Given the description of an element on the screen output the (x, y) to click on. 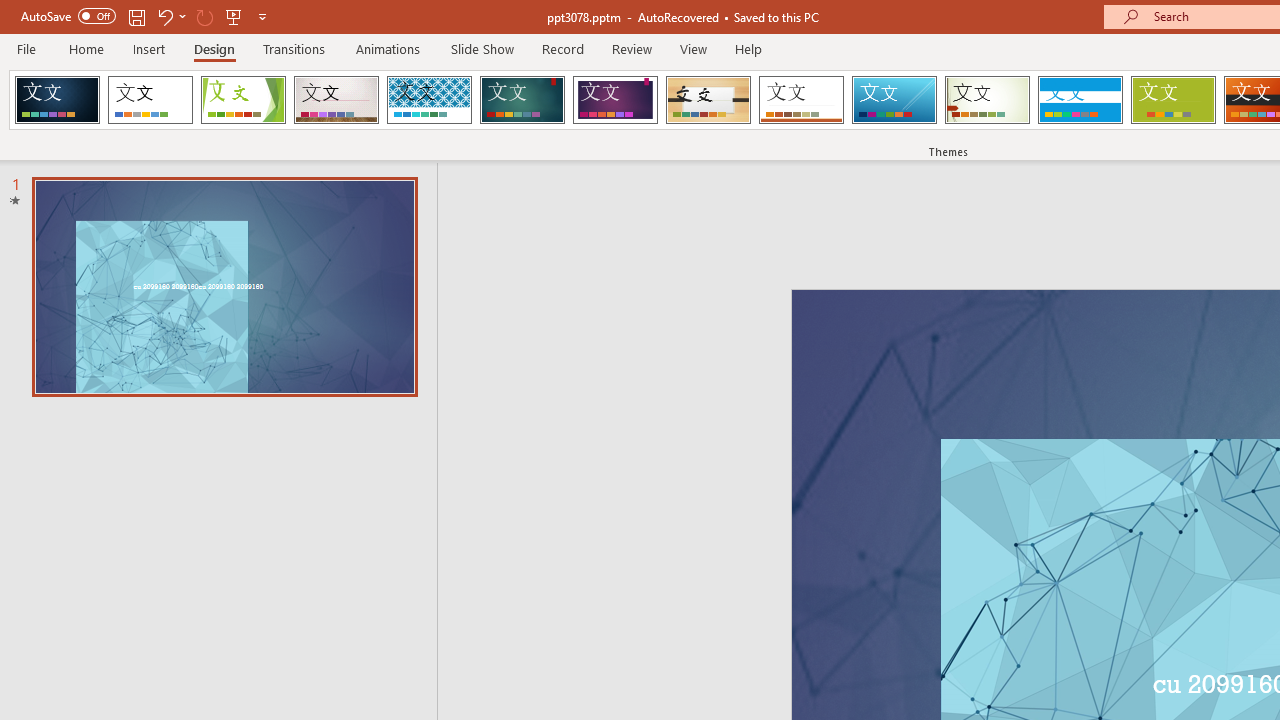
Ion Boardroom (615, 100)
Banded (1080, 100)
Facet (243, 100)
Slice (893, 100)
Office Theme (150, 100)
Wisp (987, 100)
Retrospect (801, 100)
